Given the description of an element on the screen output the (x, y) to click on. 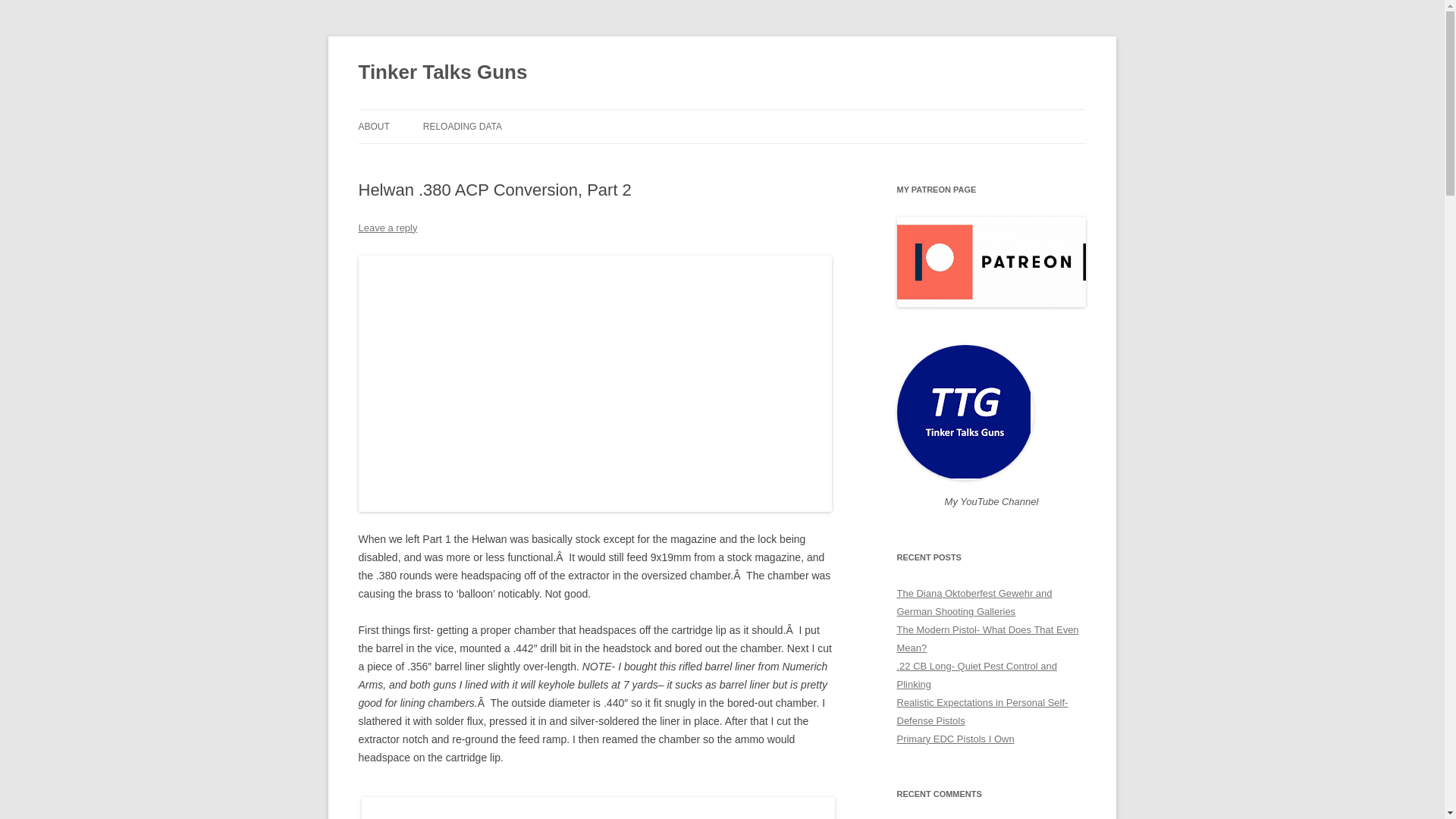
The Modern Pistol- What Does That Even Mean? (987, 638)
The Diana Oktoberfest Gewehr and German Shooting Galleries (973, 602)
.22 CB Long- Quiet Pest Control and Plinking (976, 675)
RELOADING DATA (462, 126)
ABOUT (373, 126)
Tinker Talks Guns (442, 72)
Leave a reply (387, 227)
Realistic Expectations in Personal Self-Defense Pistols (981, 711)
Tinker Talks Guns (442, 72)
Primary EDC Pistols I Own (954, 738)
